Given the description of an element on the screen output the (x, y) to click on. 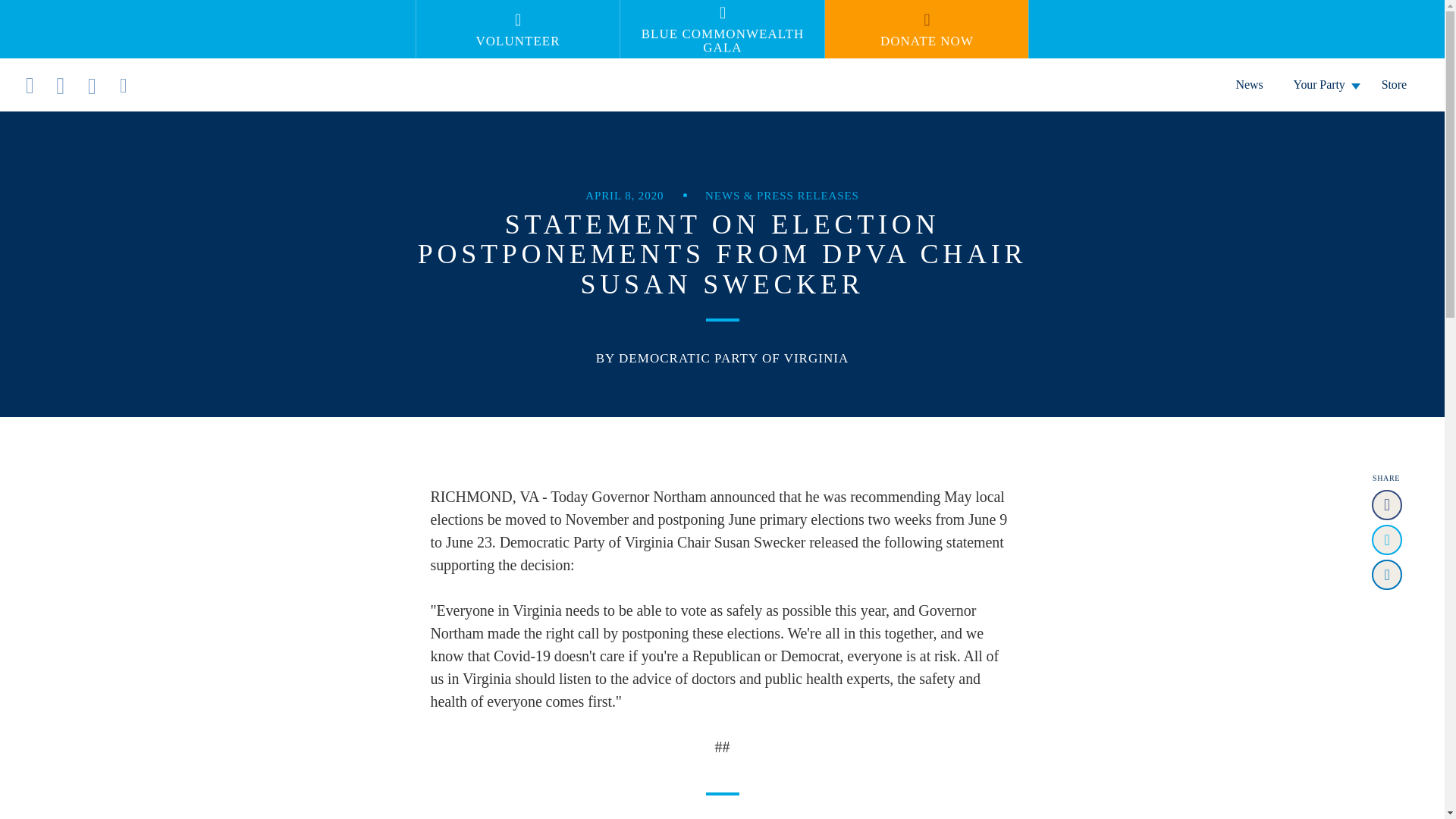
BLUE COMMONWEALTH GALA (722, 29)
DONATE NOW (926, 29)
Your Party (1322, 83)
VOLUNTEER (517, 29)
